Given the description of an element on the screen output the (x, y) to click on. 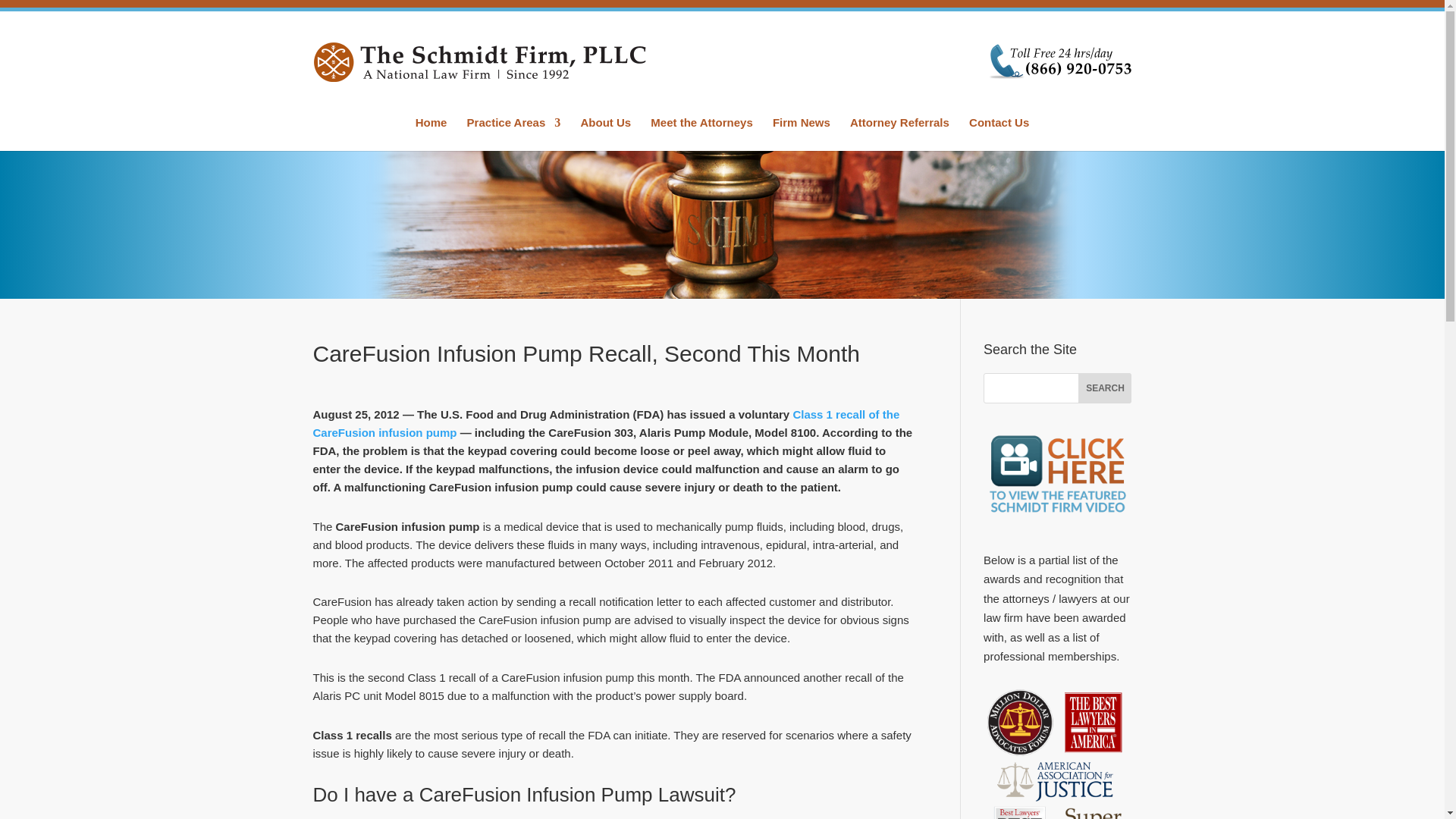
Class 1 recall of the CareFusion infusion pump (606, 422)
Attorney Referrals (899, 133)
Contact Us (999, 133)
Search (1104, 388)
Firm News (801, 133)
About Us (604, 133)
Meet the Attorneys (701, 133)
Home (430, 133)
Practice Areas (513, 133)
Search (1104, 388)
